Given the description of an element on the screen output the (x, y) to click on. 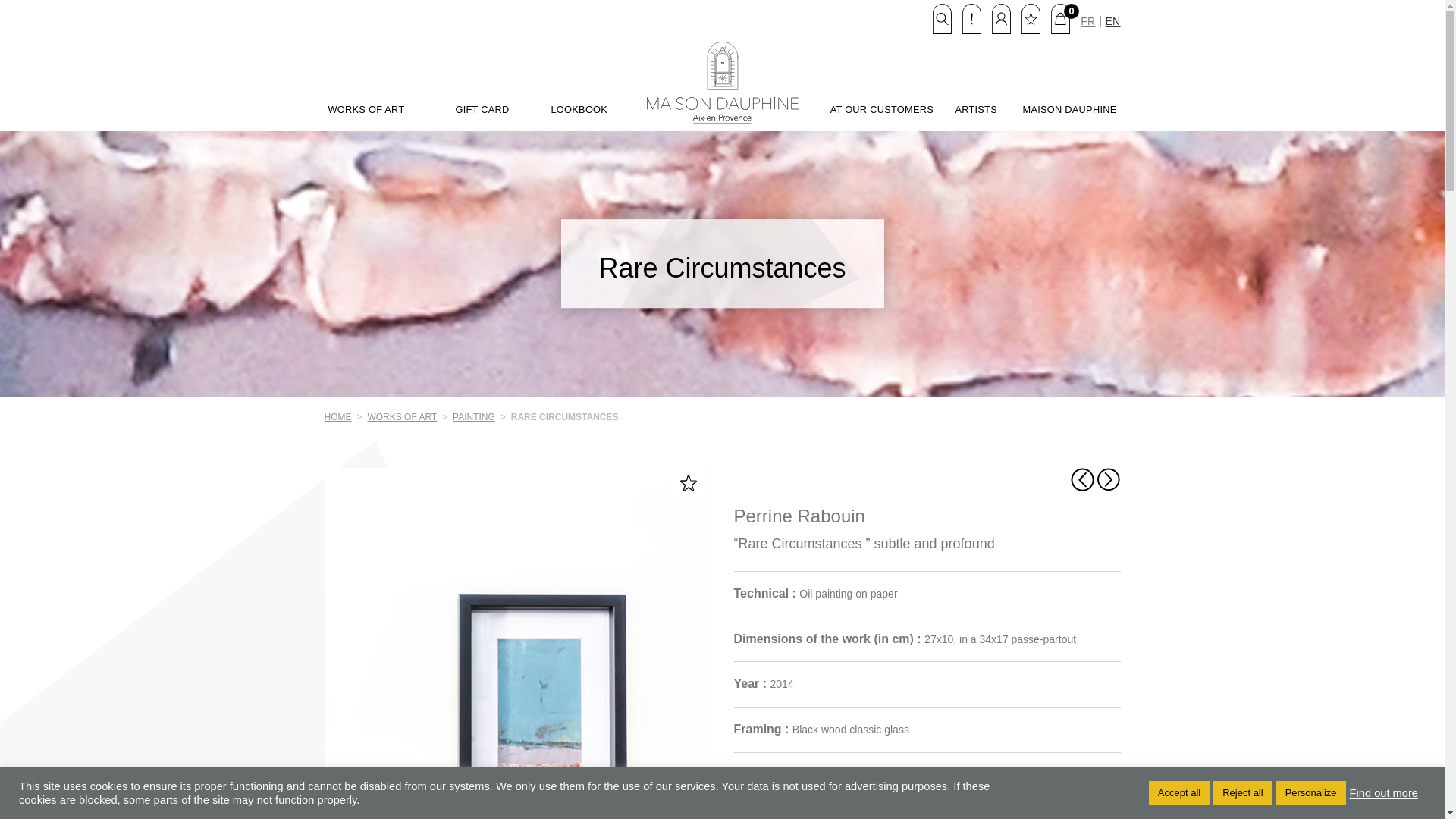
WORKS OF ART (365, 109)
GIFT CARD (481, 109)
LOOKBOOK (578, 109)
HOME LOGO (721, 81)
ARTISTS (976, 109)
MAISON DAUPHINE (1069, 109)
AT OUR CUSTOMERS (881, 109)
